Given the description of an element on the screen output the (x, y) to click on. 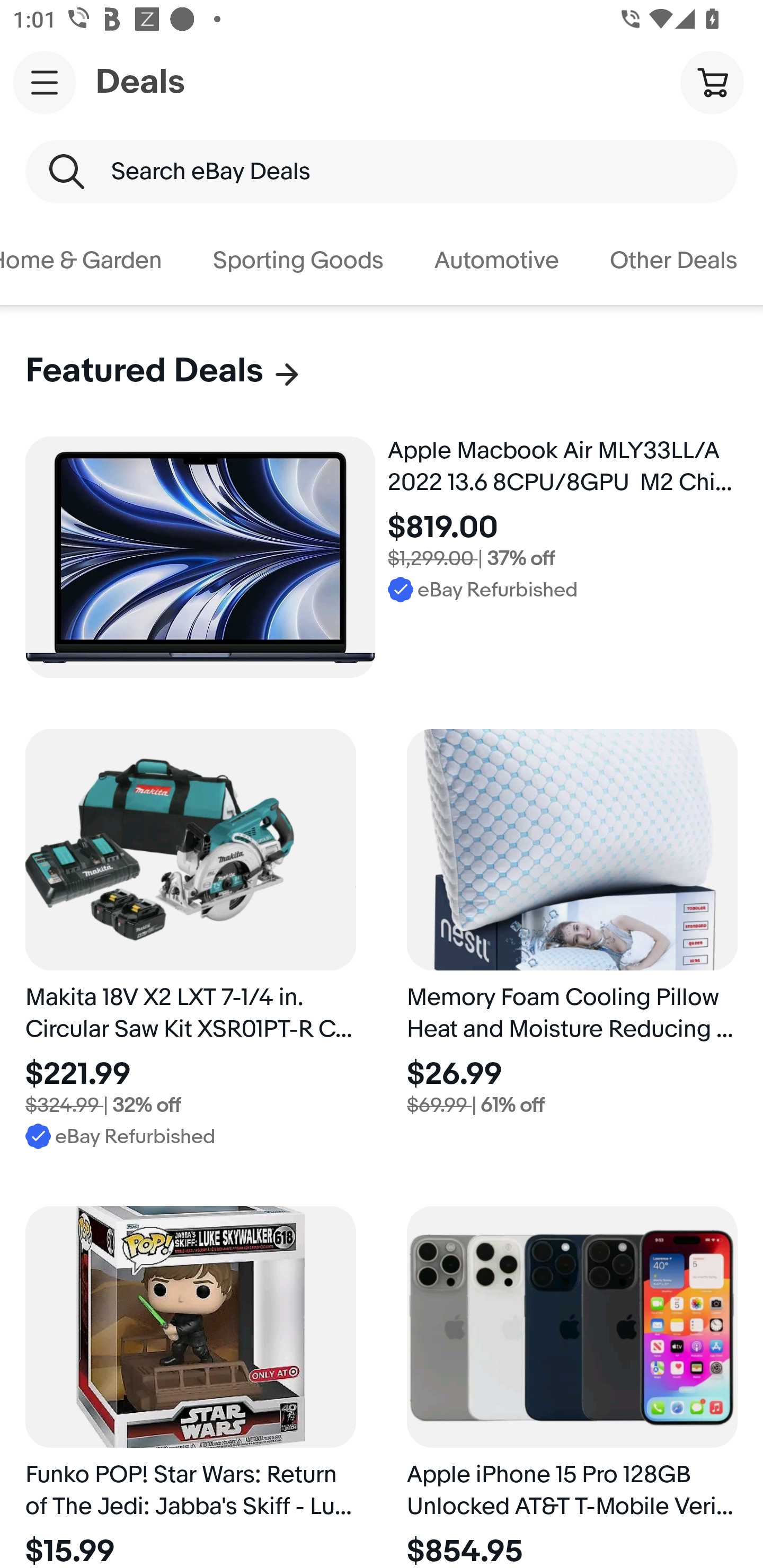
Main navigation, open (44, 82)
Cart button shopping cart (711, 81)
Search eBay Deals Search Keyword Search eBay Deals (381, 171)
Home & Garden. Button. 4 of 7. Home & Garden (93, 260)
Sporting Goods. Button. 5 of 7. Sporting Goods (297, 260)
Automotive. Button. 6 of 7. Automotive (496, 260)
Other Deals. Button. 7 of 7. Other Deals (673, 260)
Featured Deals   Featured Deals,7 items (163, 370)
